Given the description of an element on the screen output the (x, y) to click on. 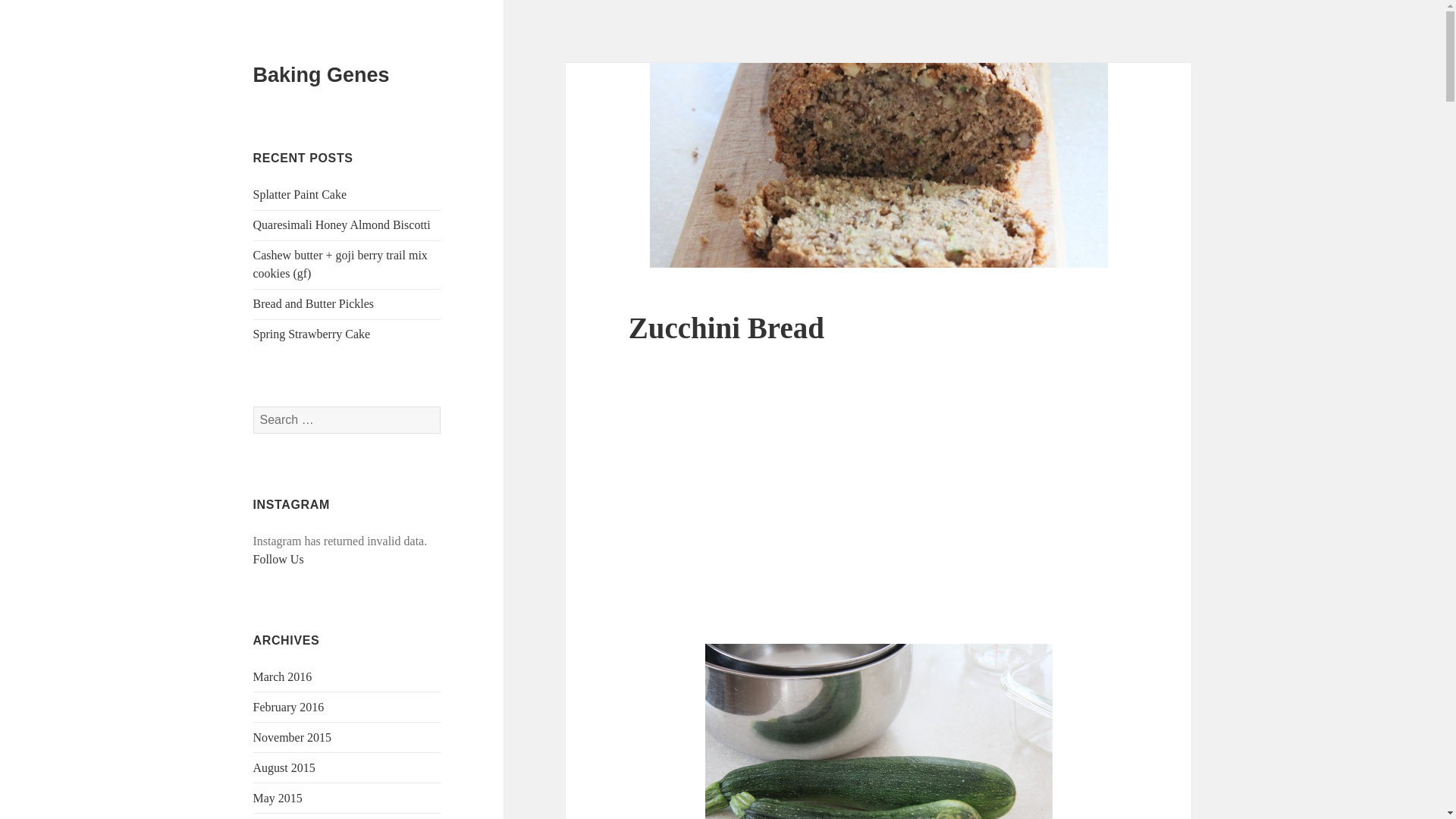
November 2015 (292, 737)
February 2016 (288, 707)
August 2015 (284, 767)
May 2015 (277, 797)
Baking Genes (321, 74)
Splatter Paint Cake (300, 194)
March 2016 (283, 676)
